Given the description of an element on the screen output the (x, y) to click on. 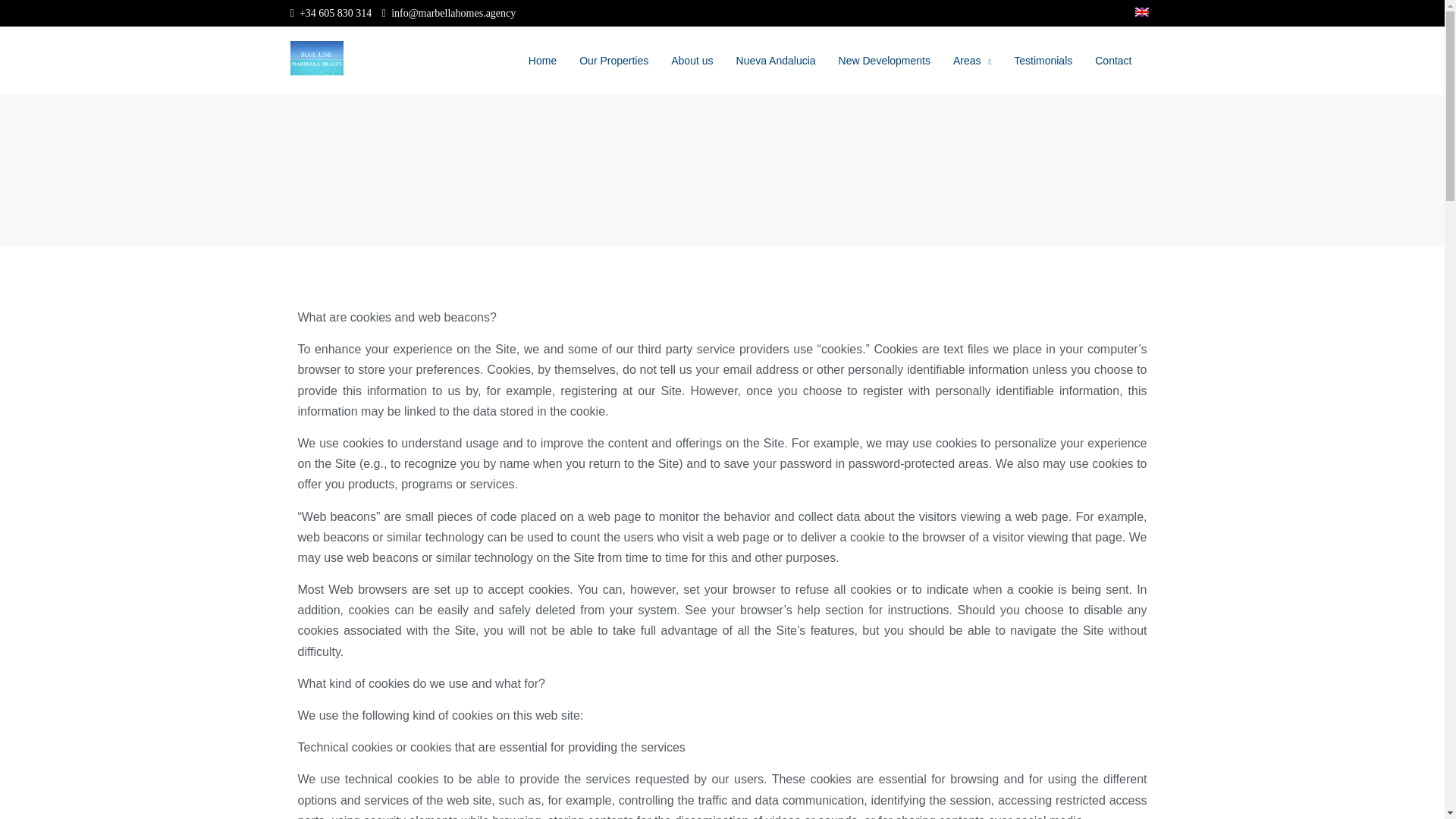
About us (691, 60)
Our Properties (613, 60)
New Developments (884, 60)
Testimonials (1043, 60)
Nueva Andalucia (776, 60)
